Given the description of an element on the screen output the (x, y) to click on. 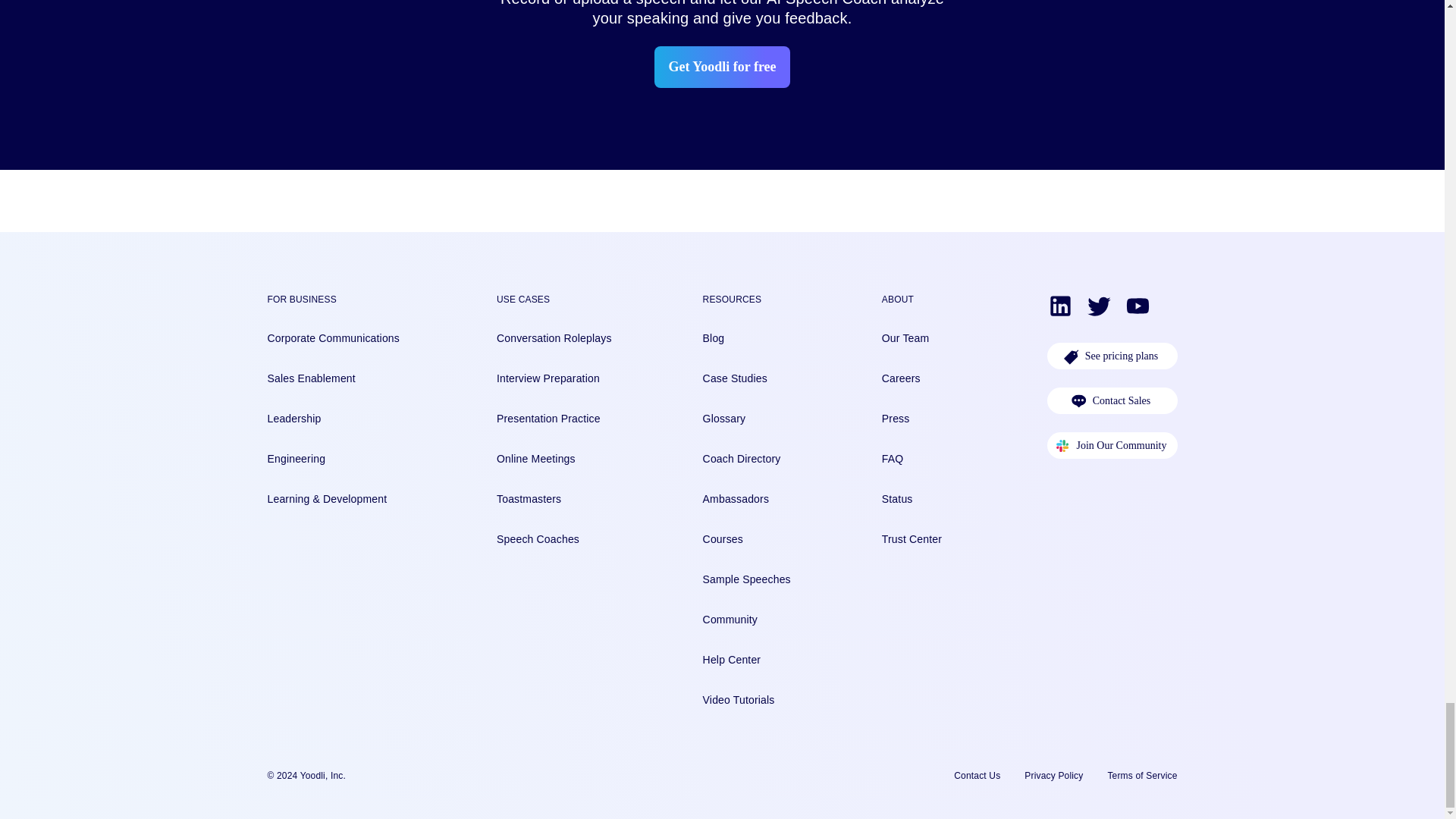
Engineering (332, 458)
Online Meetings (553, 458)
Presentation Practice (553, 418)
Glossary (746, 418)
Video Tutorials (746, 700)
Courses (746, 539)
Get Yoodli for free (721, 66)
Our Team (912, 338)
Sales Enablement (332, 378)
Help Center (746, 659)
Press (912, 418)
Careers (912, 378)
Community (746, 619)
Blog (746, 338)
Interview Preparation (553, 378)
